Given the description of an element on the screen output the (x, y) to click on. 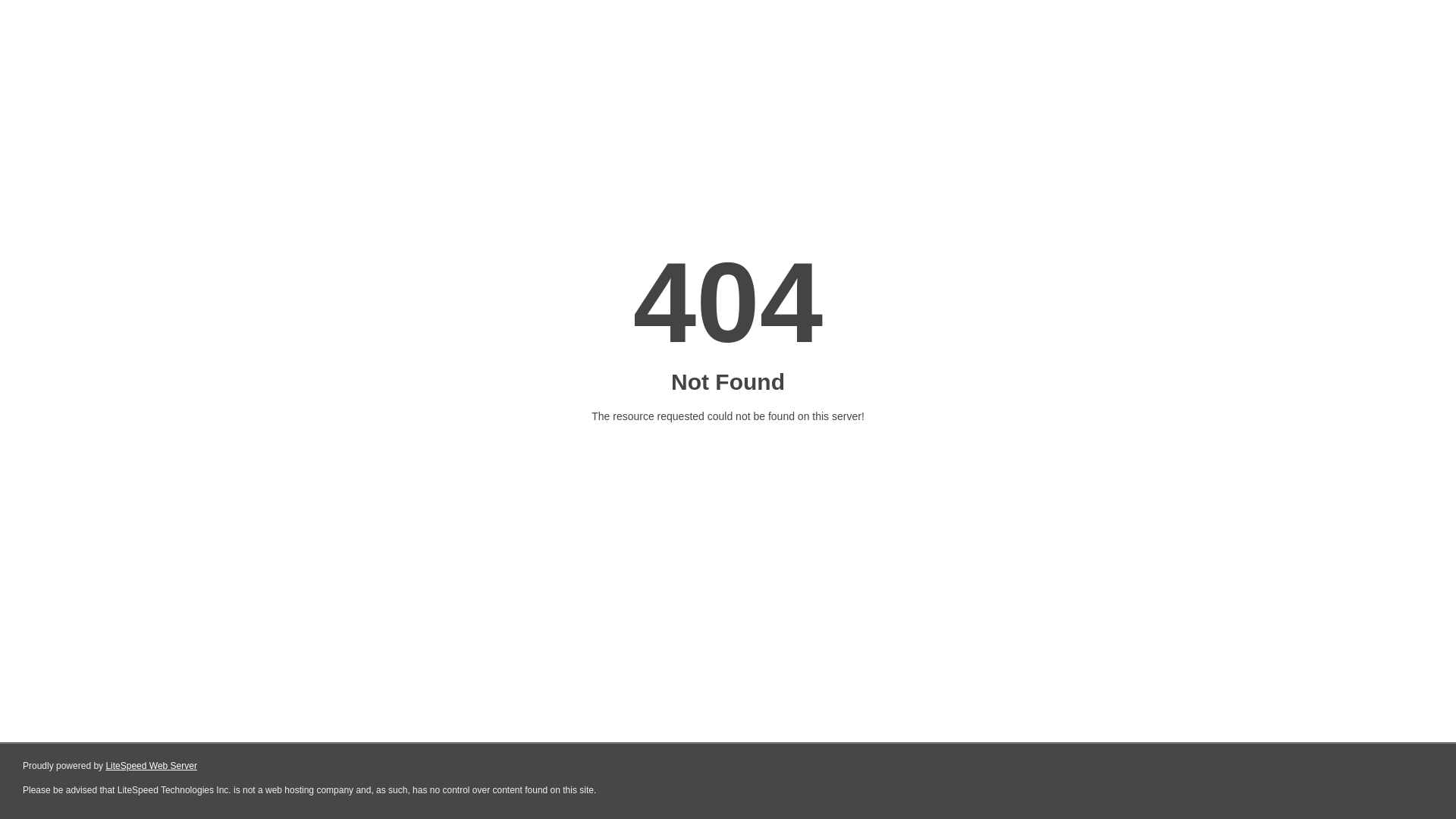
LiteSpeed Web Server Element type: text (151, 765)
